Given the description of an element on the screen output the (x, y) to click on. 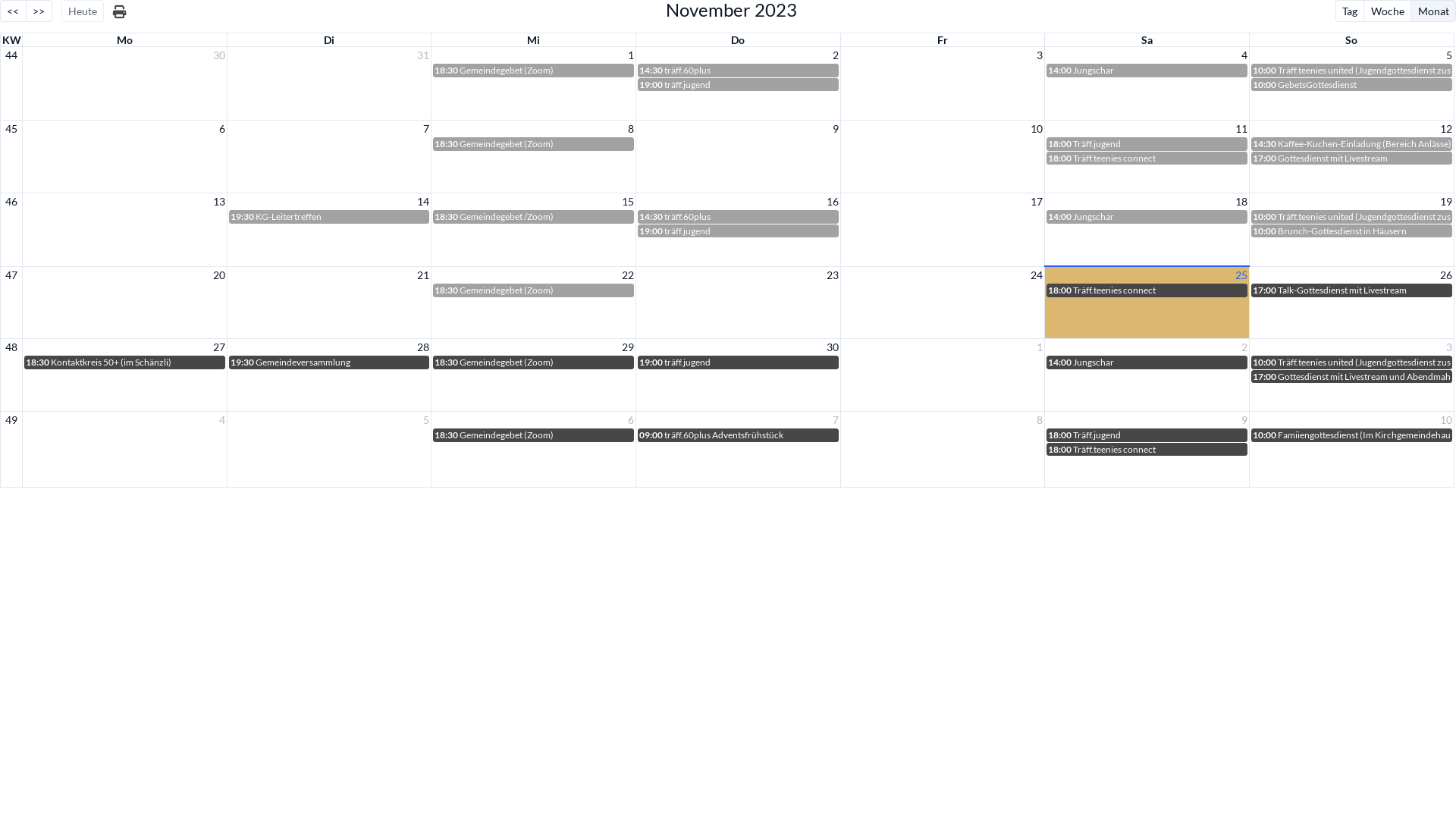
Heute Element type: text (82, 10)
Tag Element type: text (1349, 10)
Woche Element type: text (1386, 10)
<< Element type: text (12, 10)
>> Element type: text (38, 10)
